Given the description of an element on the screen output the (x, y) to click on. 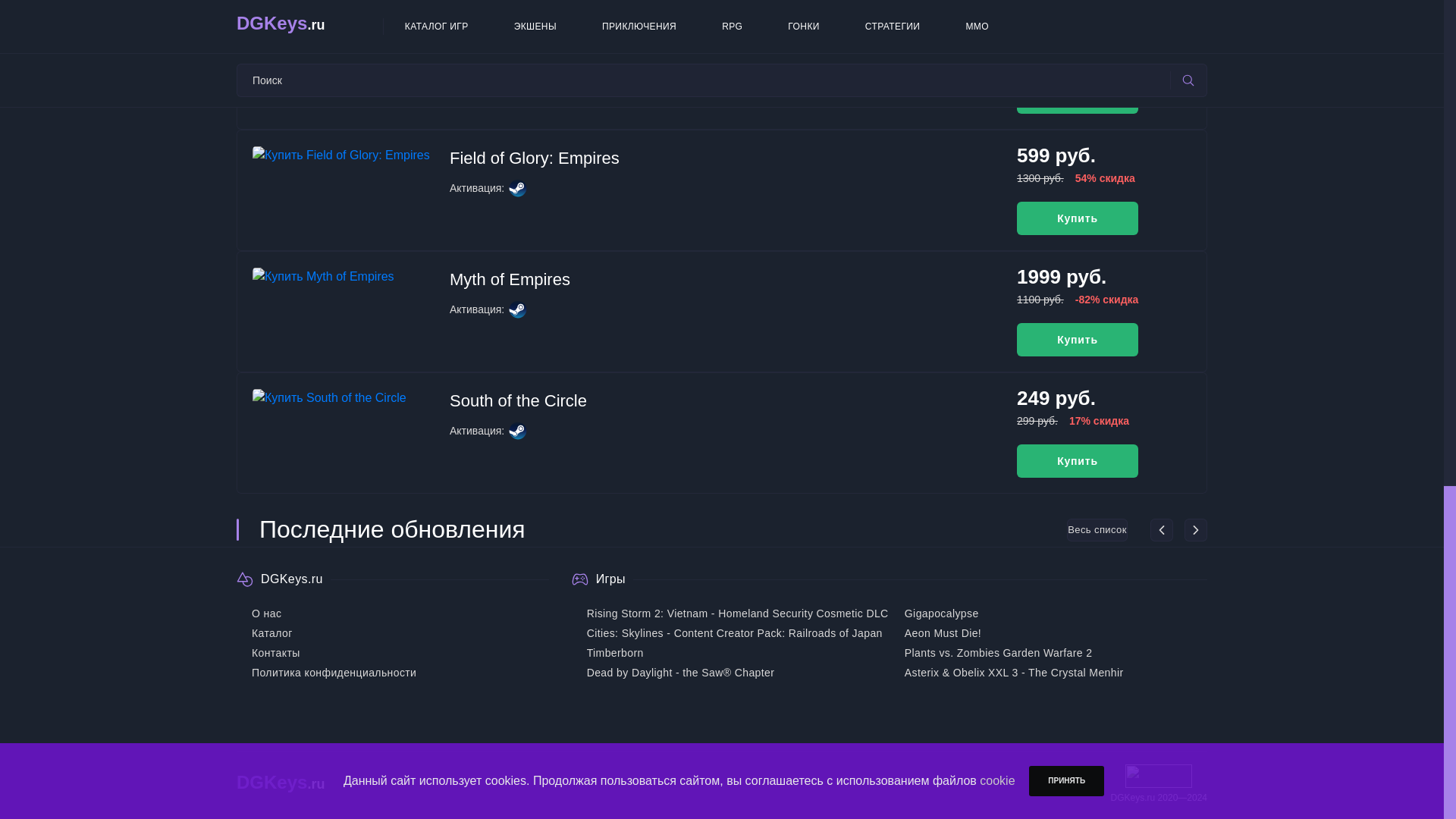
Myth of Empires (509, 279)
Space Empires V (513, 57)
South of the Circle (517, 400)
Field of Glory: Empires (534, 157)
